Given the description of an element on the screen output the (x, y) to click on. 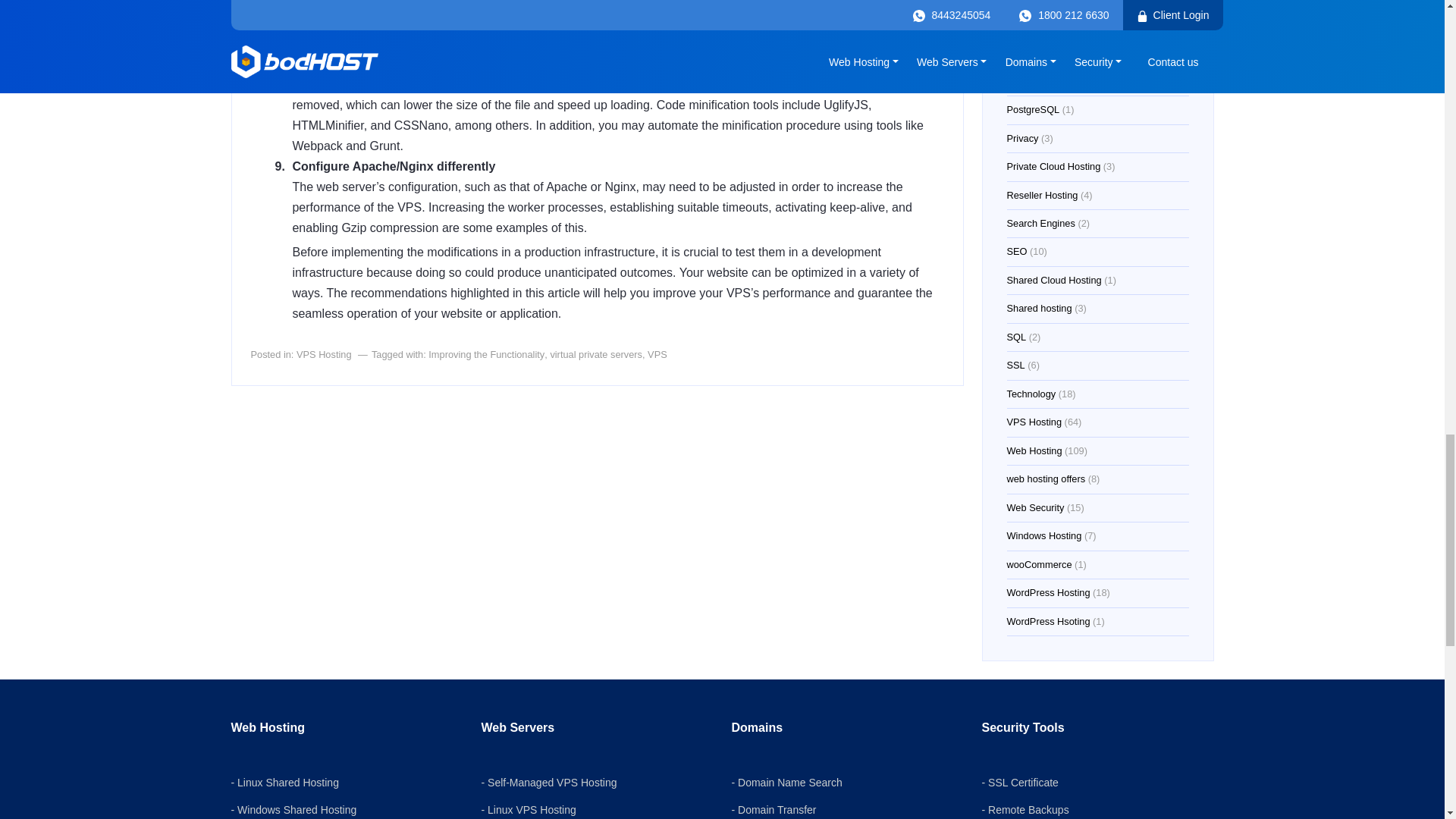
virtual private servers (596, 354)
VPS Hosting (324, 354)
VPS (656, 354)
Improving the Functionality (486, 354)
